Given the description of an element on the screen output the (x, y) to click on. 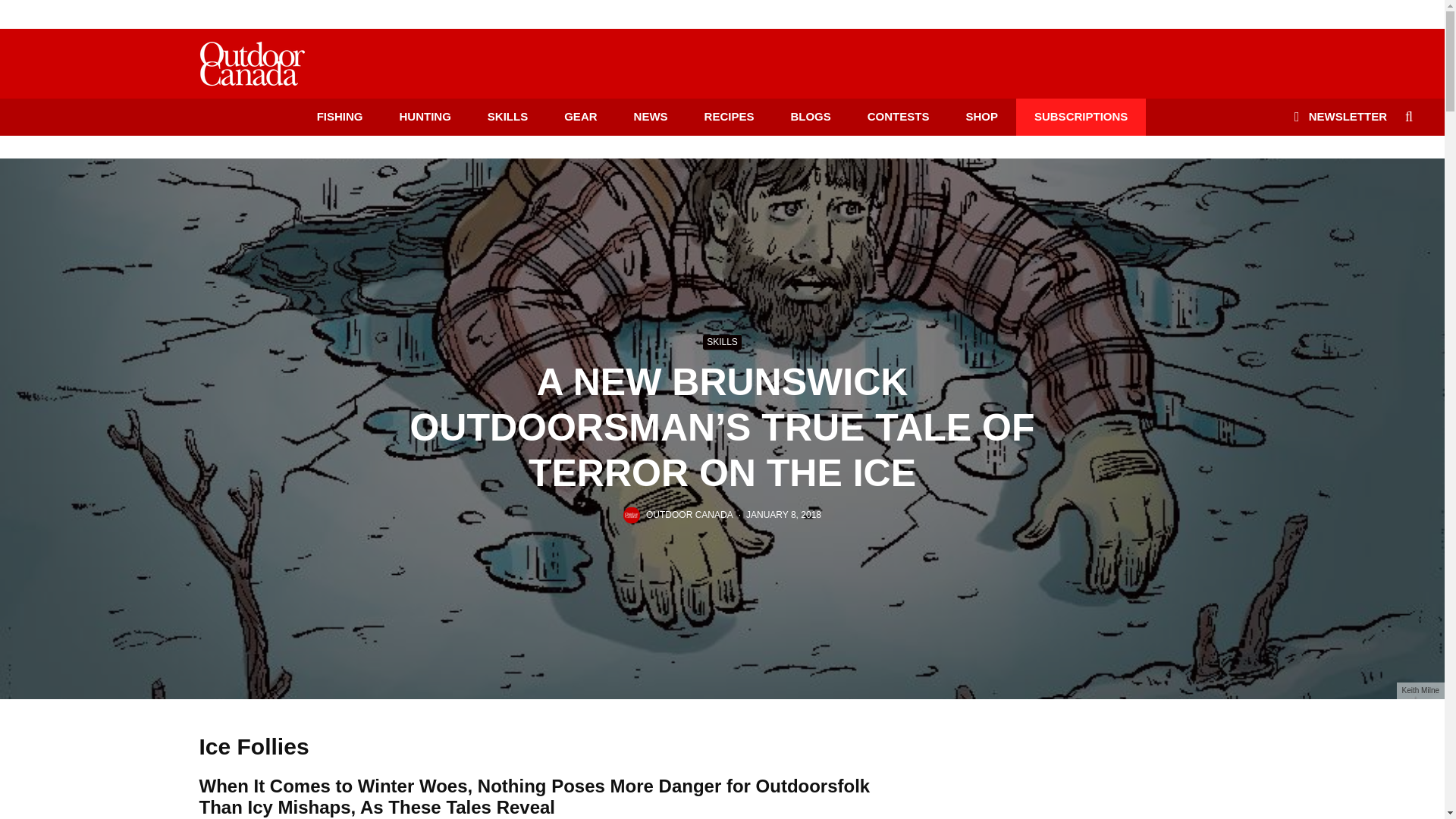
HUNTING (424, 116)
CONTESTS (897, 116)
FISHING (339, 116)
RECIPES (729, 116)
SKILLS (507, 116)
NEWS (650, 116)
BLOGS (809, 116)
GEAR (580, 116)
